Given the description of an element on the screen output the (x, y) to click on. 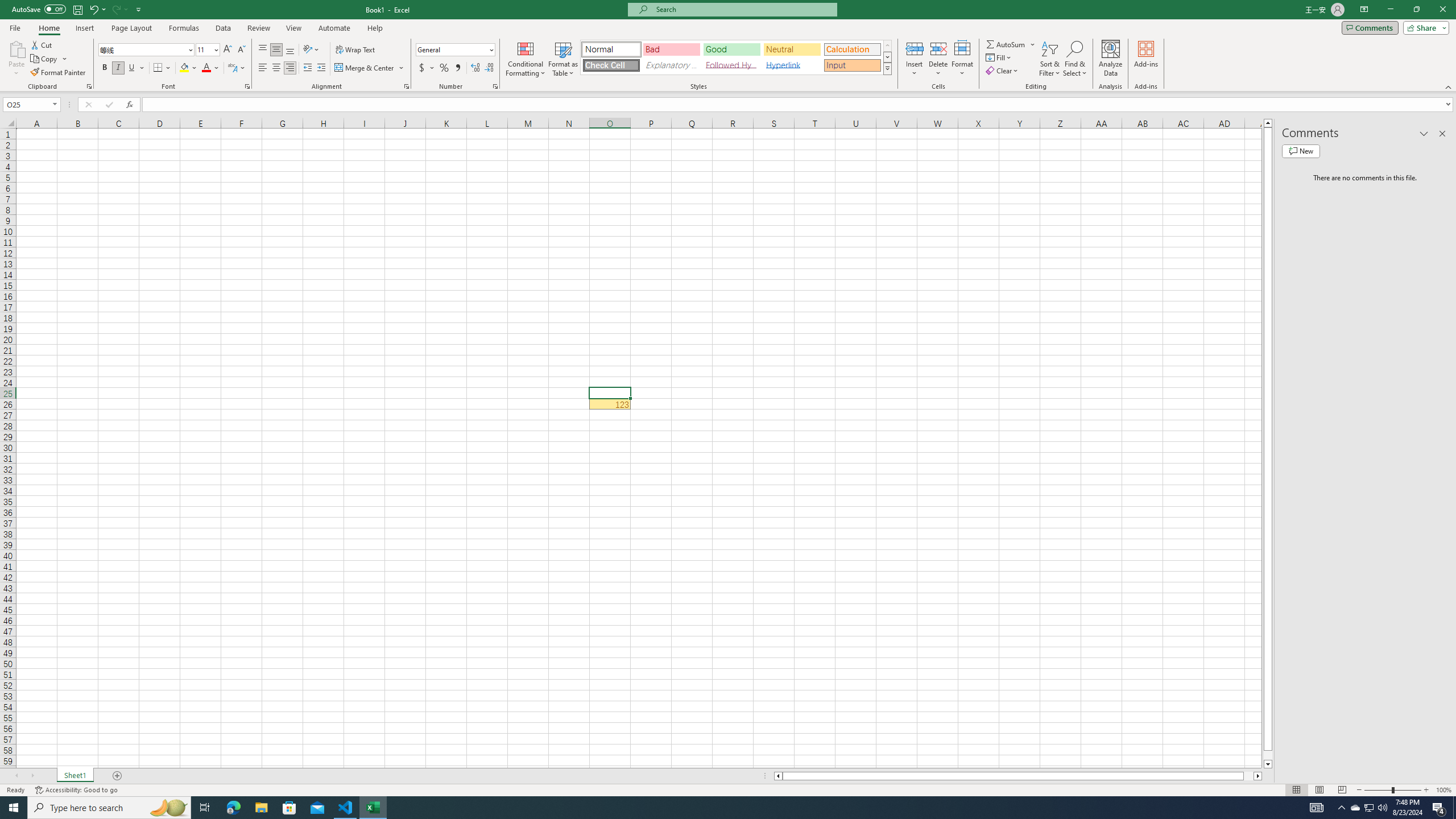
Check Cell (611, 65)
Merge & Center (369, 67)
Decrease Indent (307, 67)
Sort & Filter (1049, 58)
Decrease Font Size (240, 49)
Middle Align (276, 49)
New comment (1300, 151)
Explanatory Text (671, 65)
